Given the description of an element on the screen output the (x, y) to click on. 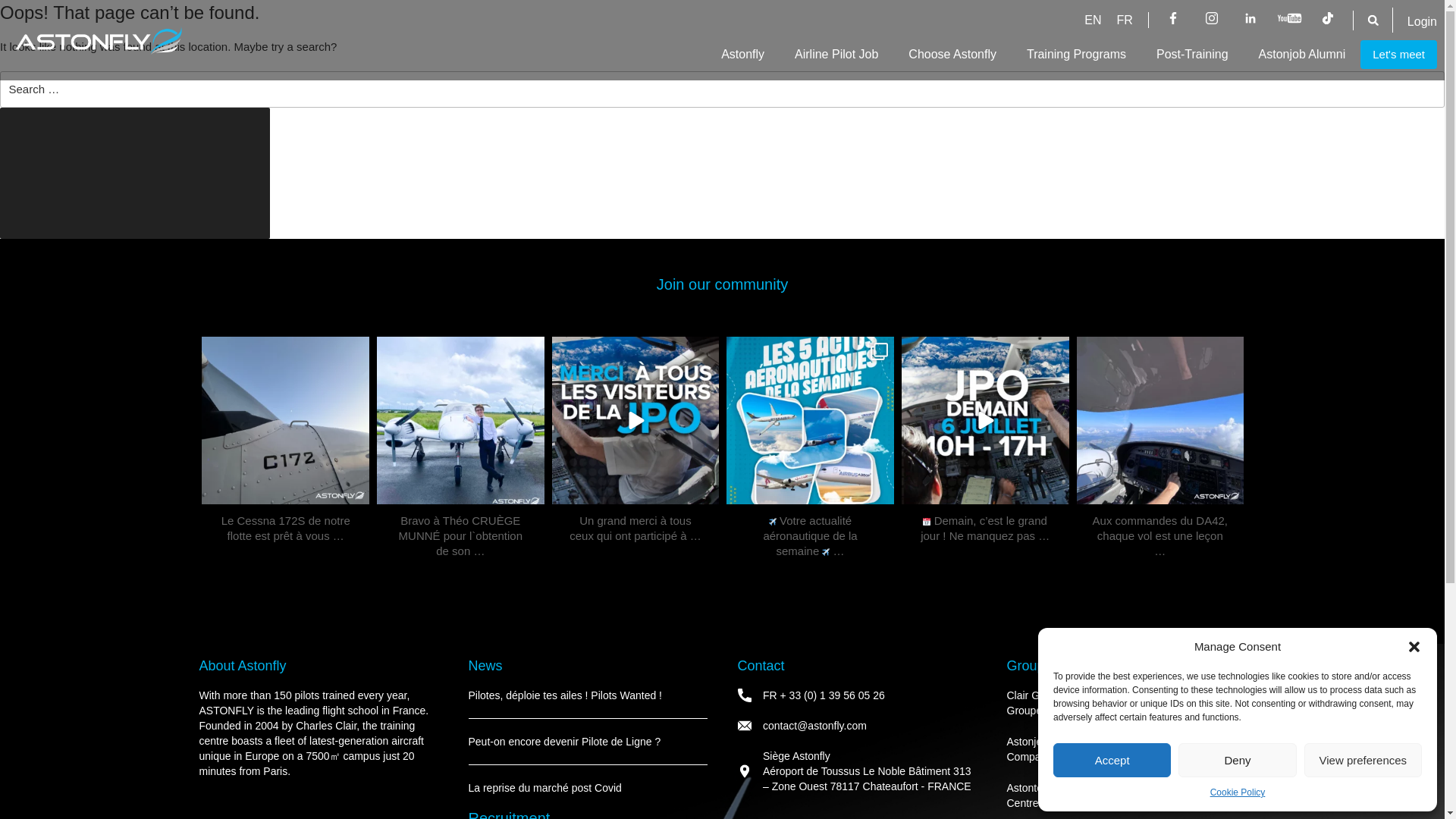
Deny (1236, 759)
Cookie Policy (1237, 792)
FR (1124, 19)
View preferences (1363, 759)
Airline Pilot Job (835, 54)
Login (1422, 21)
Accept (1111, 759)
Astonfly (742, 54)
EN (1092, 19)
